Given the description of an element on the screen output the (x, y) to click on. 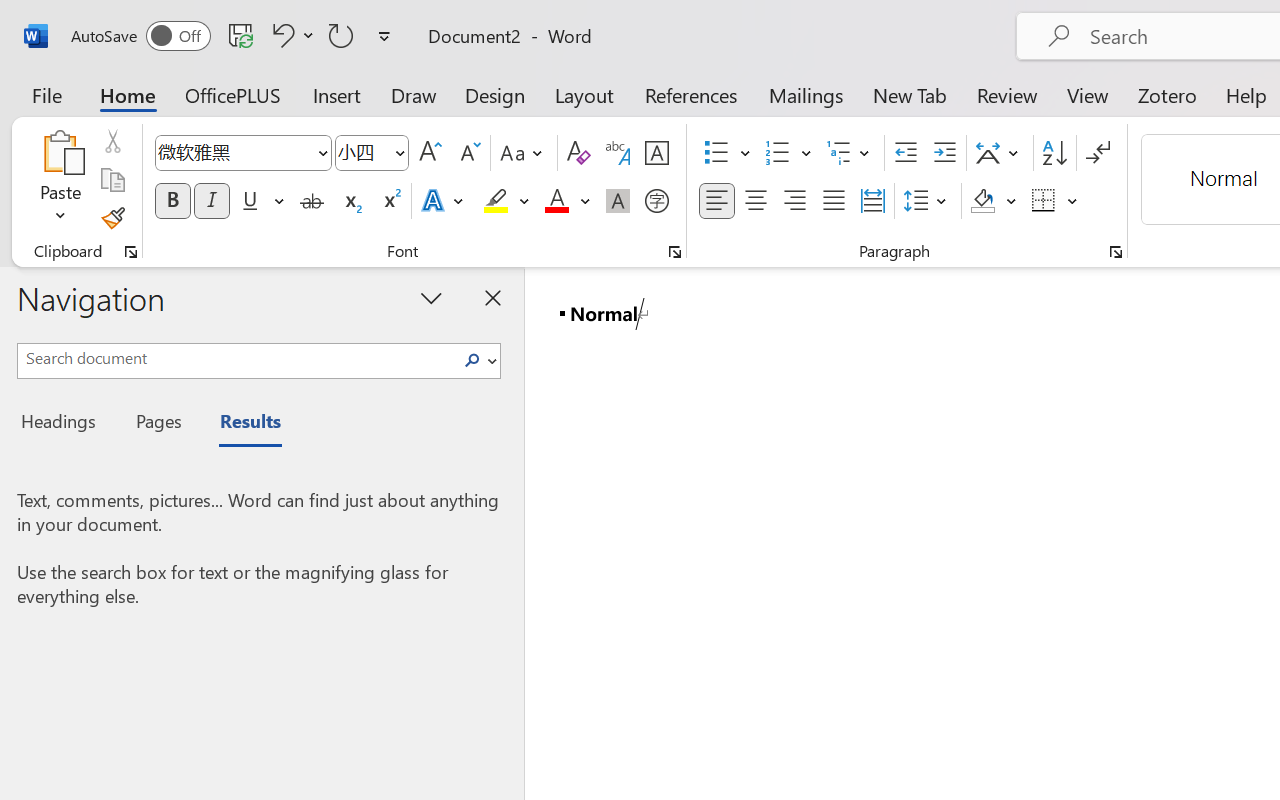
Sort... (1054, 153)
Font Color (567, 201)
Zotero (1166, 94)
Search (471, 360)
Phonetic Guide... (618, 153)
References (690, 94)
Distributed (872, 201)
Pages (156, 424)
AutoSave (140, 35)
Paste (60, 151)
Quick Access Toolbar (233, 36)
Font Size (362, 152)
Format Painter (112, 218)
Repeat Style (341, 35)
Enclose Characters... (656, 201)
